Given the description of an element on the screen output the (x, y) to click on. 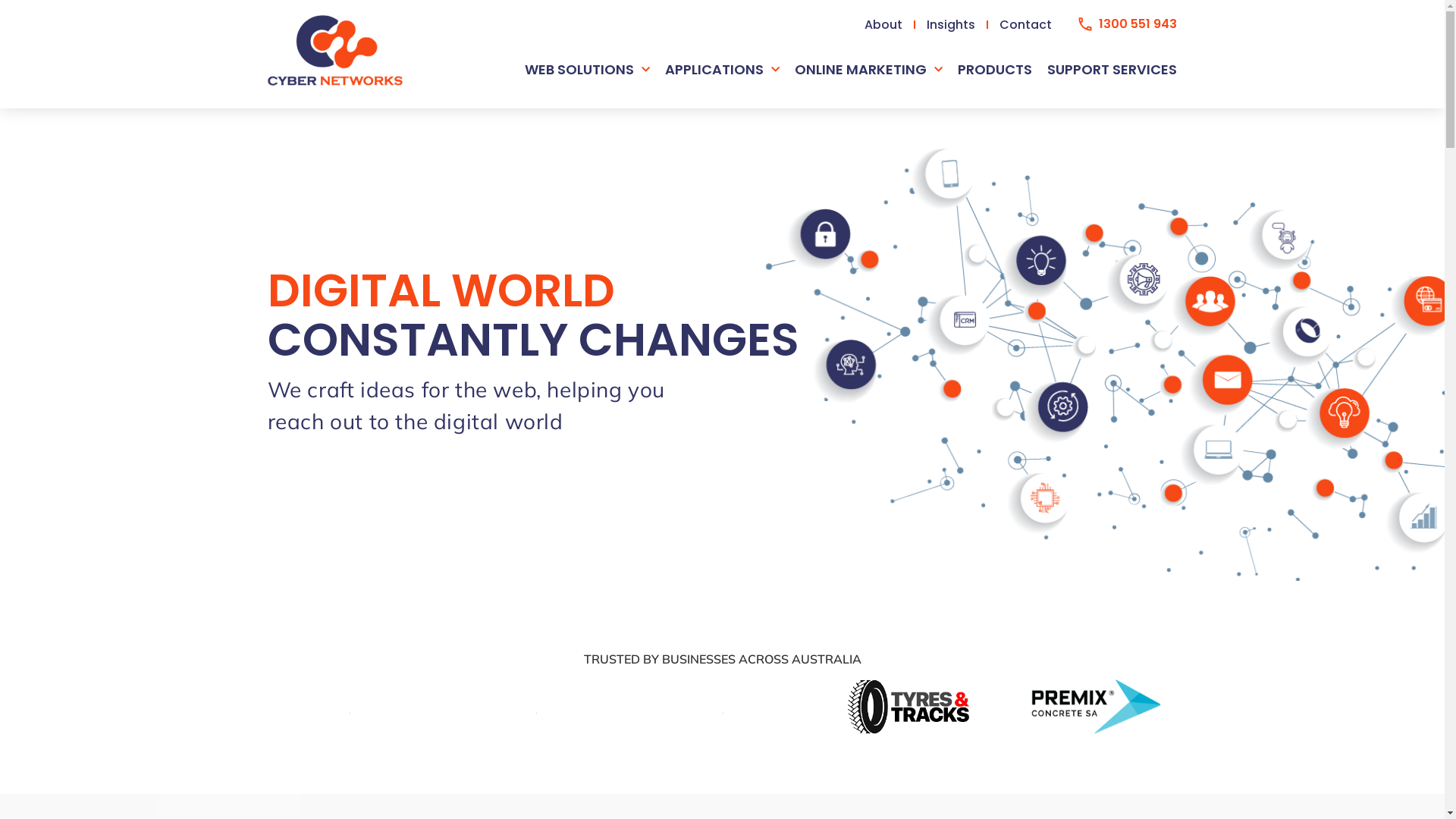
ONLINE MARKETING Element type: text (868, 69)
1300 551 943 Element type: text (1127, 24)
About Element type: text (884, 23)
Contact Element type: text (1025, 23)
Insights Element type: text (951, 23)
PRODUCTS Element type: text (994, 69)
SUPPORT SERVICES Element type: text (1111, 69)
Cyber Networks - CyberNetworks Element type: hover (333, 50)
WEB SOLUTIONS Element type: text (586, 69)
APPLICATIONS Element type: text (722, 69)
